Given the description of an element on the screen output the (x, y) to click on. 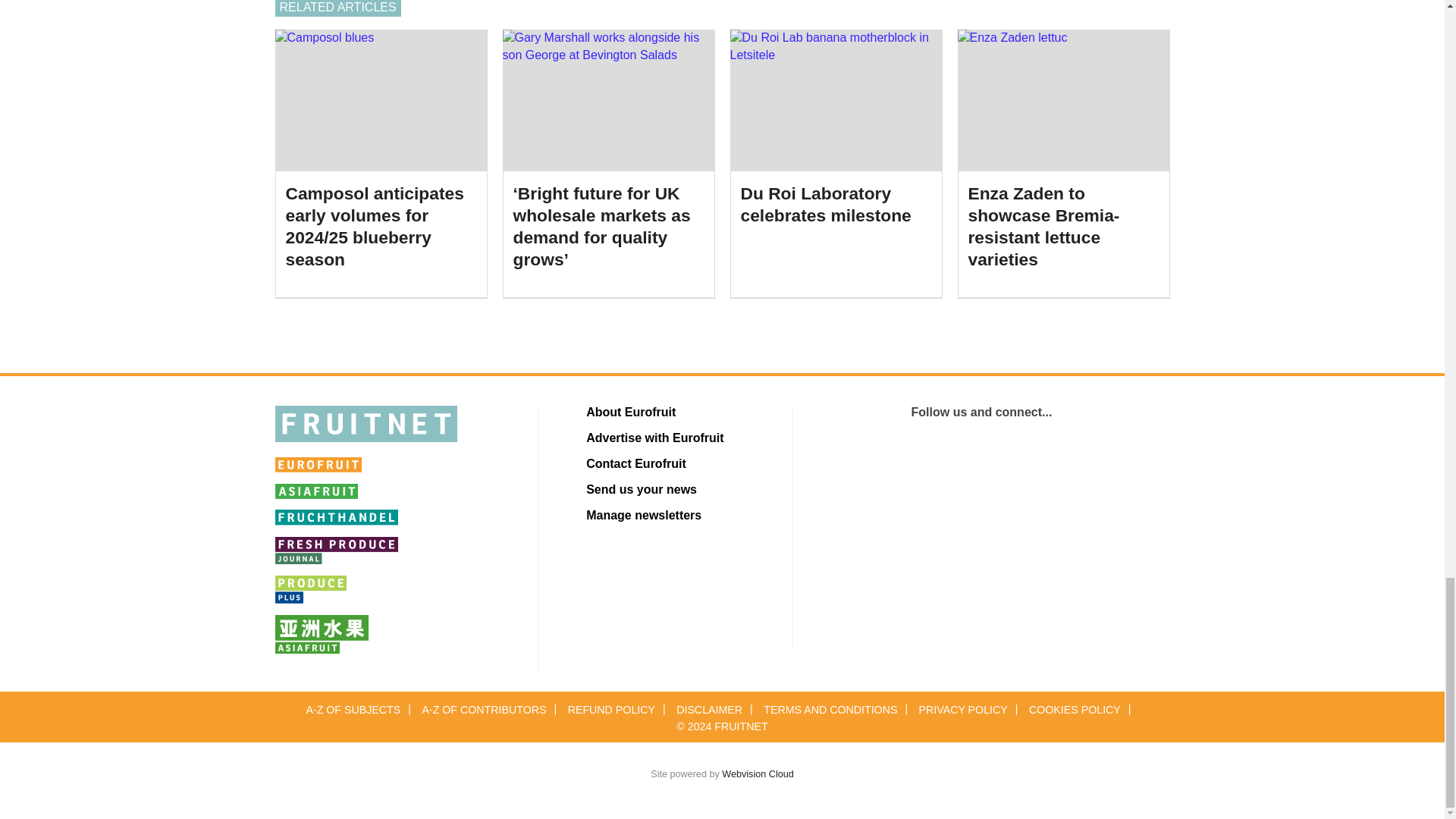
Follow us on Instagram (1046, 458)
Connect with us on Twitter (915, 458)
Connect with us on Youtube (981, 458)
Follow us on Linked In (851, 458)
Follow us on Facebook (1112, 458)
